Given the description of an element on the screen output the (x, y) to click on. 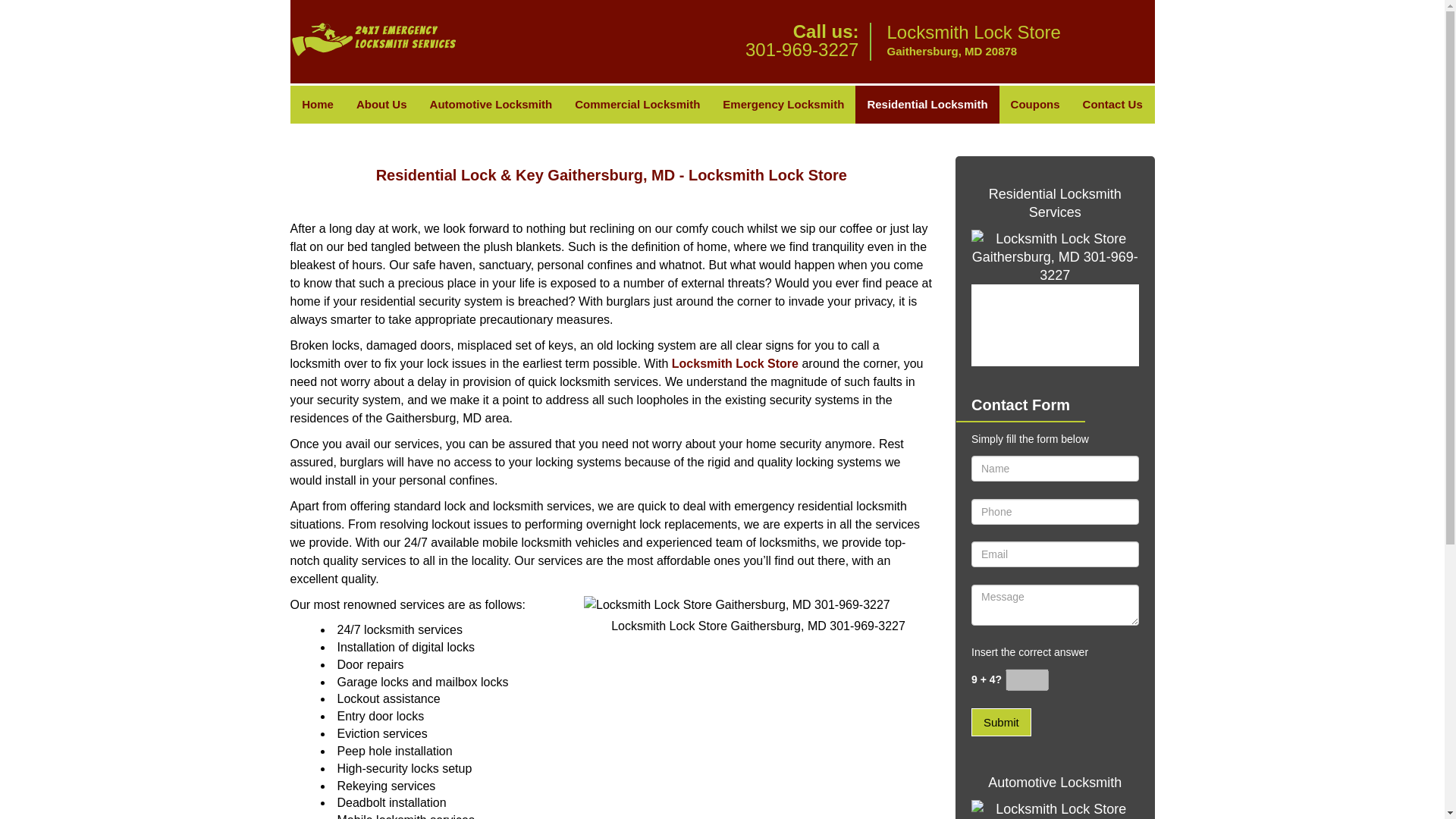
Automotive Locksmith (491, 104)
Phone Field required (1054, 511)
Emergency Locksmith (783, 104)
Name Field required (1054, 468)
Contact Us (1112, 104)
Residential Locksmith Services (1054, 203)
Home (317, 104)
Message Field require (1054, 604)
301-969-3227 (802, 49)
Email Field required (1054, 554)
